Given the description of an element on the screen output the (x, y) to click on. 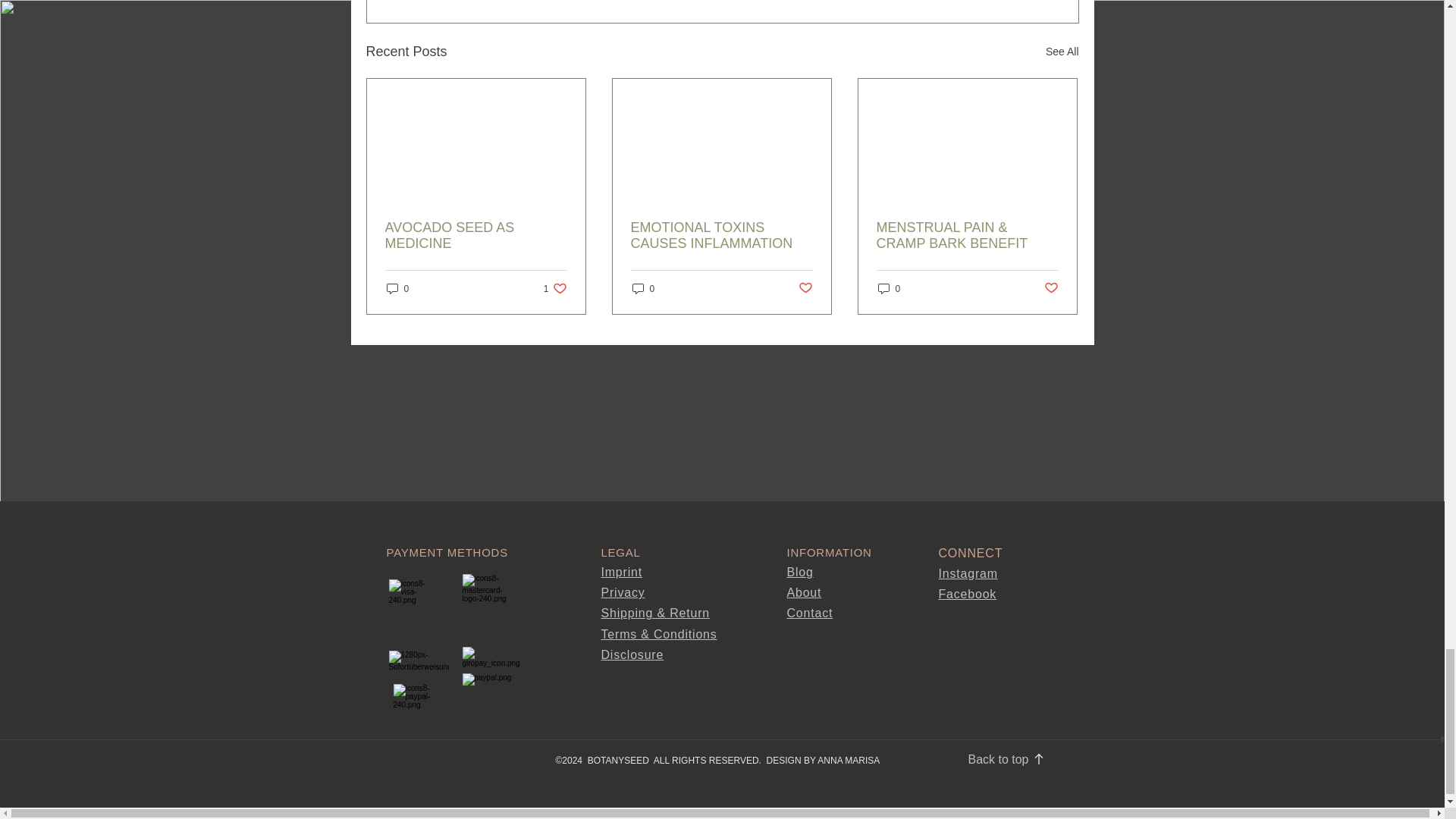
AVOCADO SEED AS MEDICINE (476, 235)
0 (397, 288)
Imprint (620, 571)
0 (889, 288)
0 (643, 288)
LEGAL (619, 552)
EMOTIONAL TOXINS CAUSES INFLAMMATION (721, 235)
PAYMENT METHODS (447, 552)
Post not marked as liked (804, 288)
See All (1061, 51)
Post not marked as liked (555, 288)
